Given the description of an element on the screen output the (x, y) to click on. 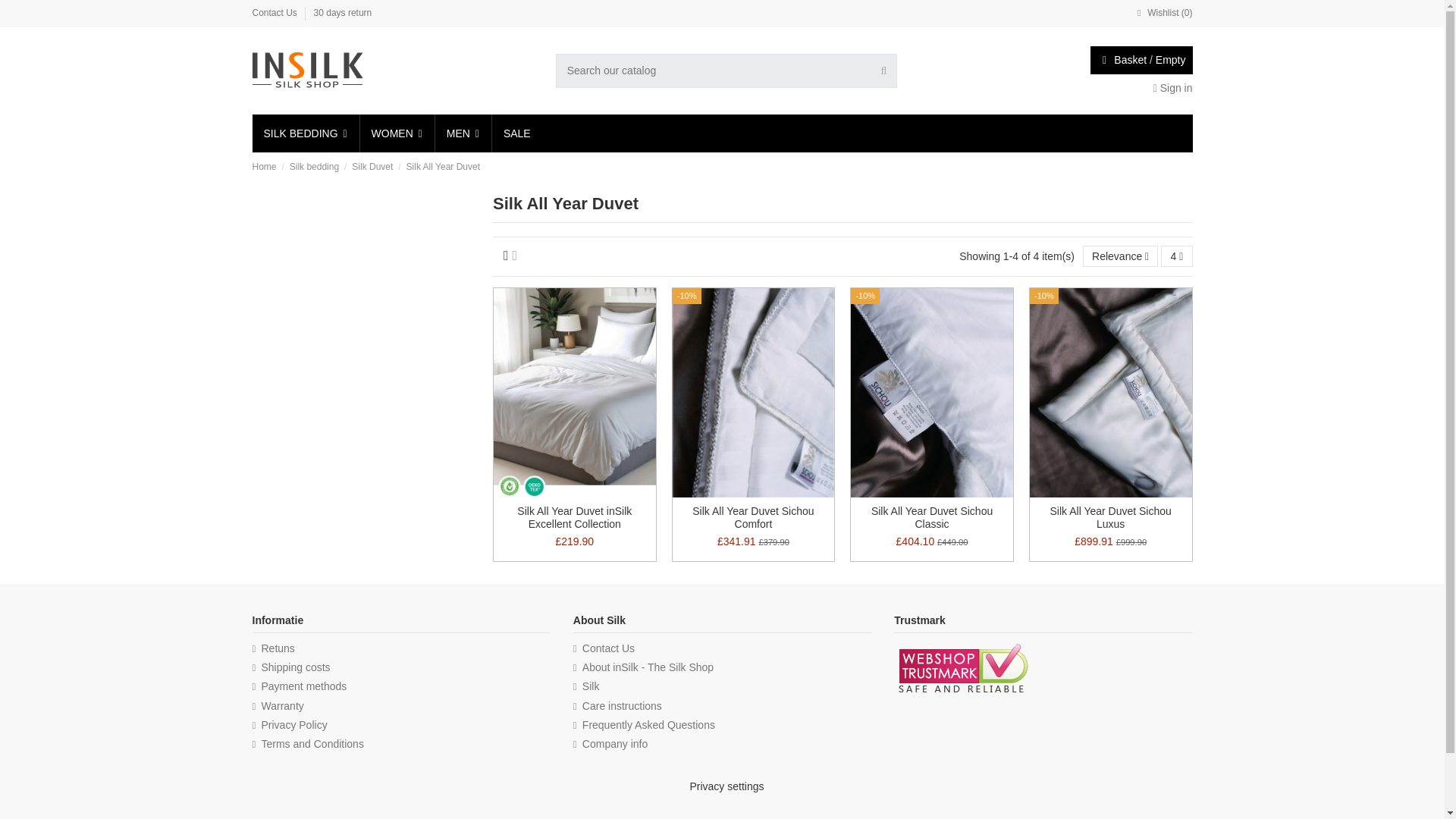
WOMEN (395, 133)
Contact Us (275, 12)
Sign in (1172, 87)
Log in to your customer account (1172, 87)
30 days return (343, 12)
SILK BEDDING (304, 133)
